Given the description of an element on the screen output the (x, y) to click on. 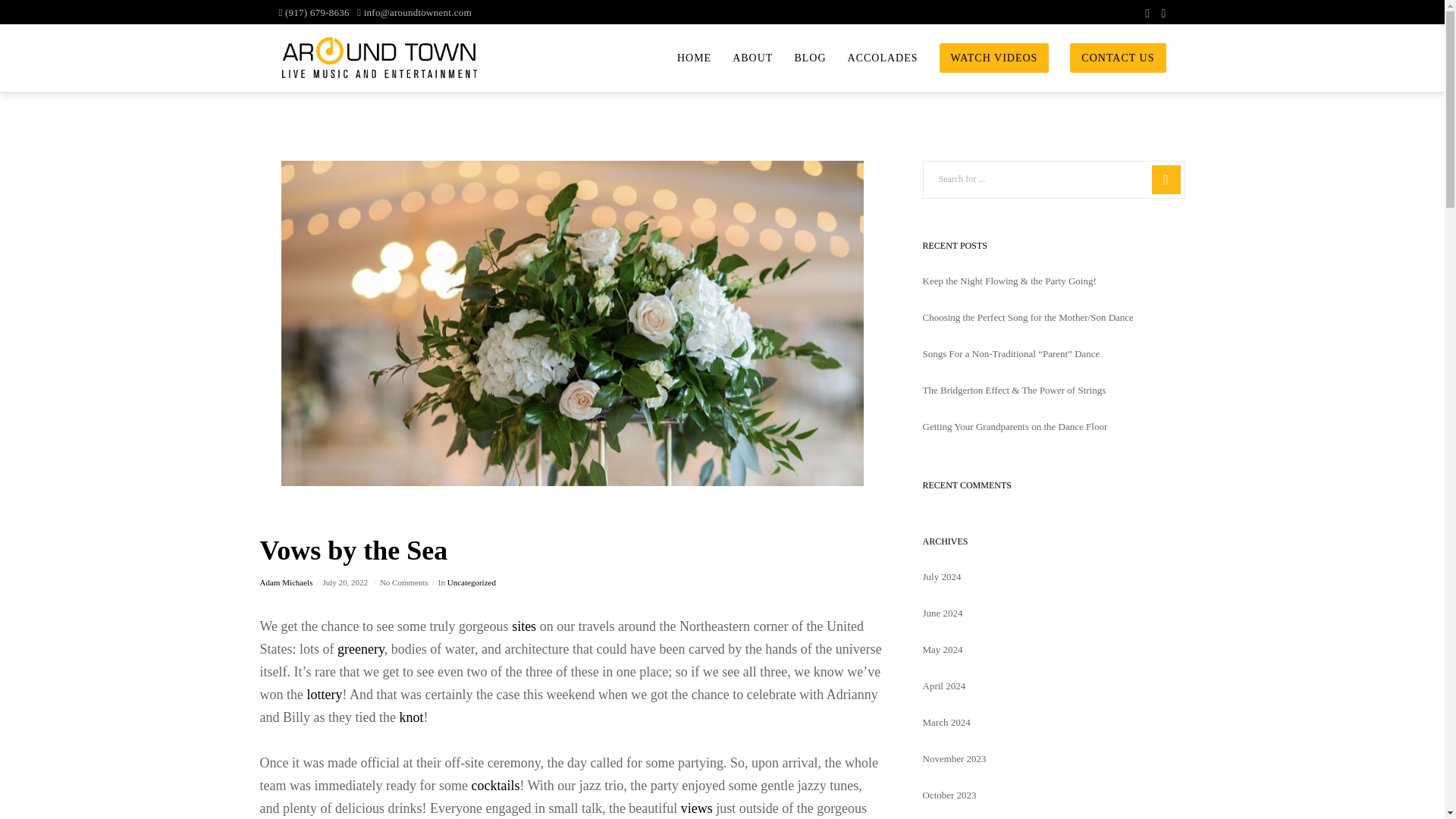
Uncategorized (471, 582)
CONTACT US (1107, 58)
ACCOLADES (872, 58)
lottery (323, 694)
HOME (683, 58)
WATCH VIDEOS (983, 58)
ABOUT (742, 58)
knot (410, 717)
sites (523, 626)
views (697, 807)
greenery (360, 648)
cocktails (494, 785)
Adam Michaels (286, 582)
BLOG (799, 58)
